Given the description of an element on the screen output the (x, y) to click on. 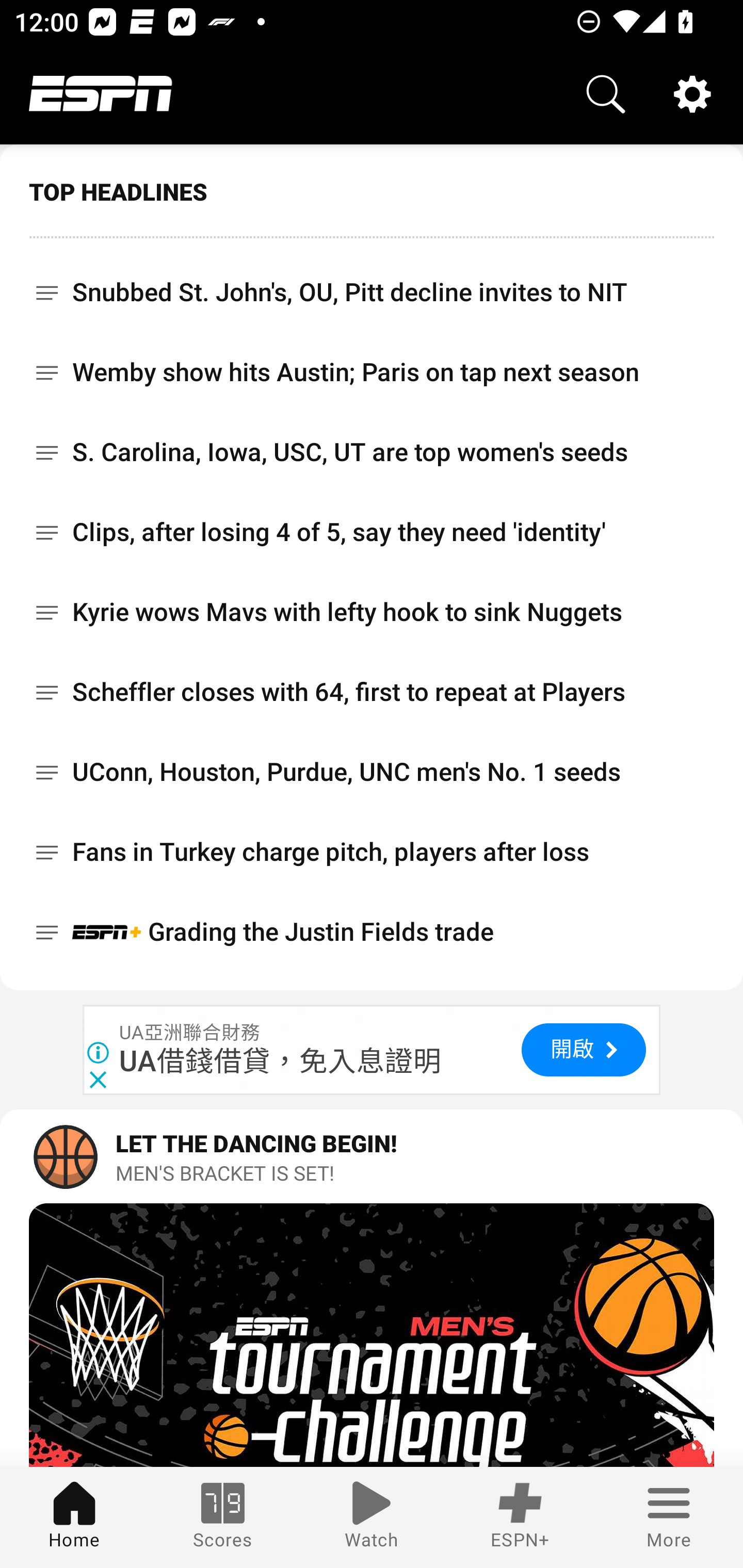
Search (605, 93)
Settings (692, 93)
 Wemby show hits Austin; Paris on tap next season (371, 372)
 S. Carolina, Iowa, USC, UT are top women's seeds (371, 452)
 Kyrie wows Mavs with lefty hook to sink Nuggets (371, 612)
 UConn, Houston, Purdue, UNC men's No. 1 seeds (371, 772)
 Fans in Turkey charge pitch, players after loss (371, 852)
UA亞洲聯合財務 (189, 1032)
開啟 (583, 1049)
UA借錢借貸，免入息證明 (280, 1061)
Scores (222, 1517)
Watch (371, 1517)
ESPN+ (519, 1517)
More (668, 1517)
